Given the description of an element on the screen output the (x, y) to click on. 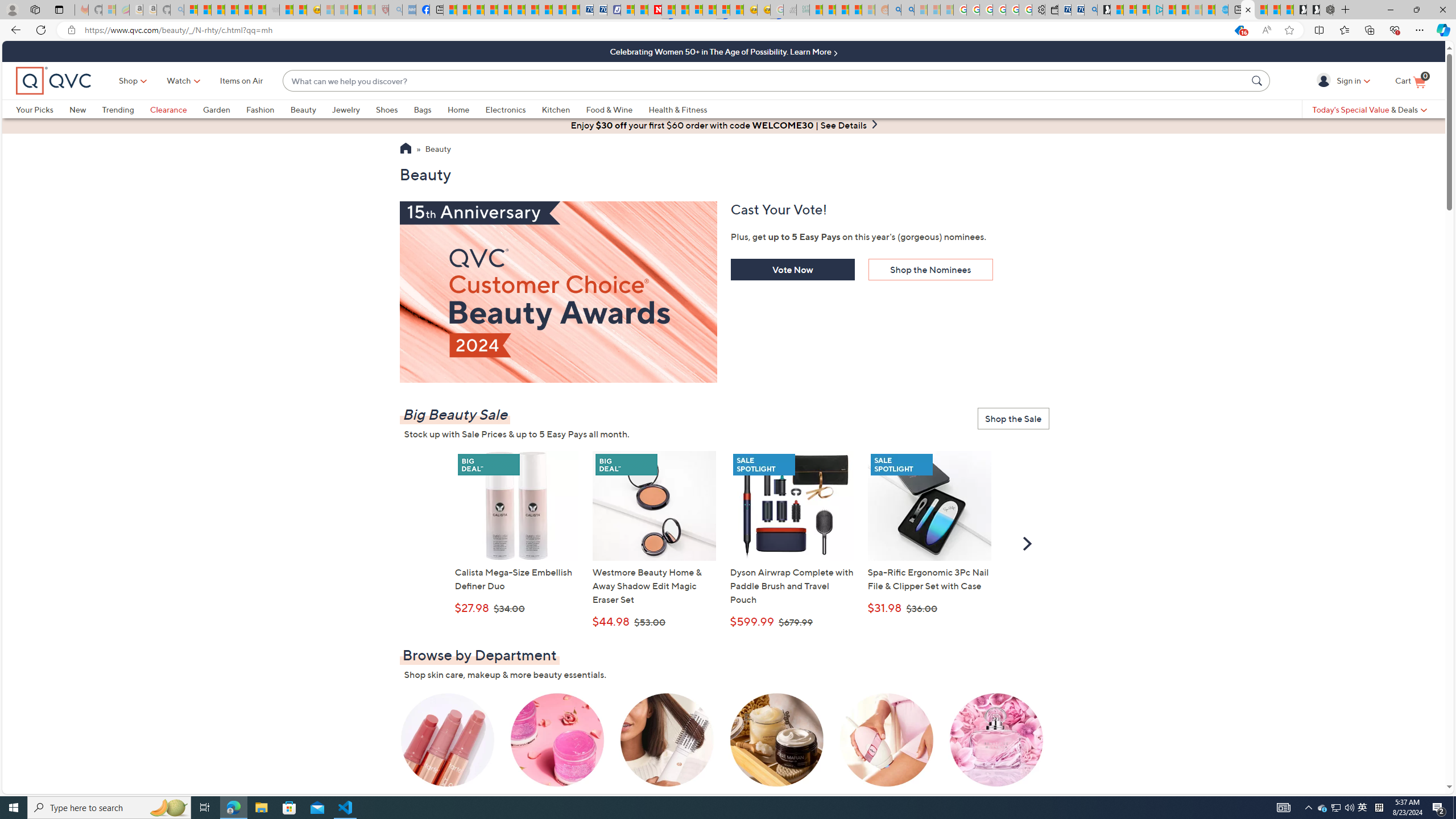
Electronics (504, 109)
Shop the Sale (1012, 418)
Cheap Car Rentals - Save70.com (1077, 9)
12 Popular Science Lies that Must be Corrected - Sleeping (368, 9)
Watch (178, 80)
Health & Fitness (677, 109)
Latest Politics News & Archive | Newsweek.com (654, 9)
